Given the description of an element on the screen output the (x, y) to click on. 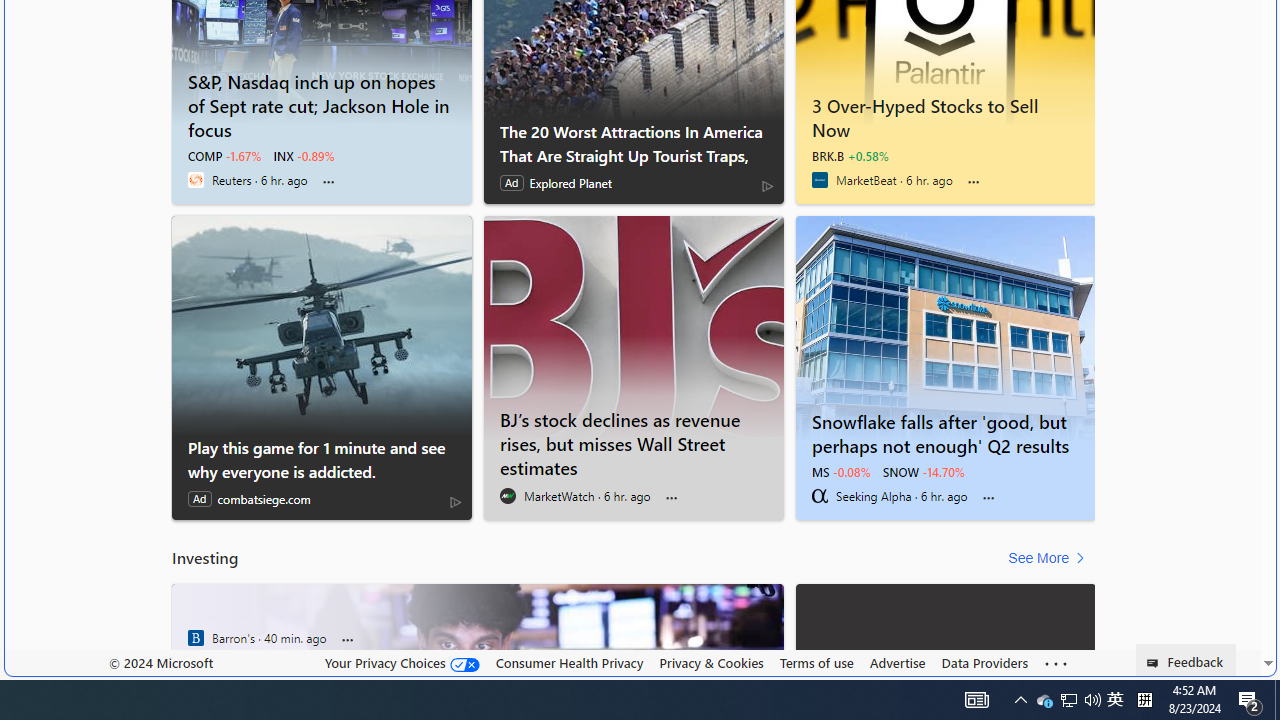
Reuters (195, 179)
